Given the description of an element on the screen output the (x, y) to click on. 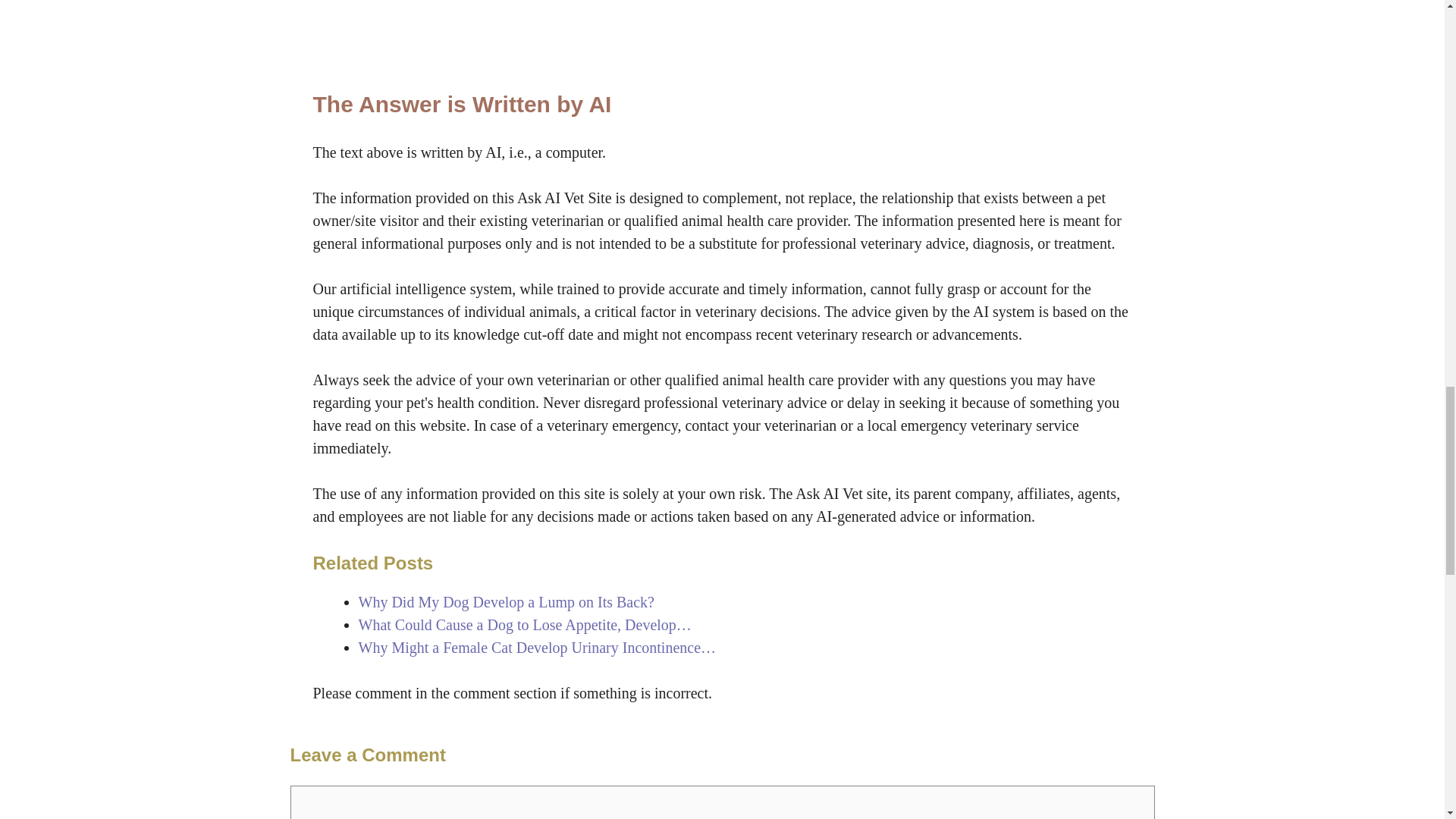
Why Did My Dog Develop a Lump on Its Back? (505, 601)
